Given the description of an element on the screen output the (x, y) to click on. 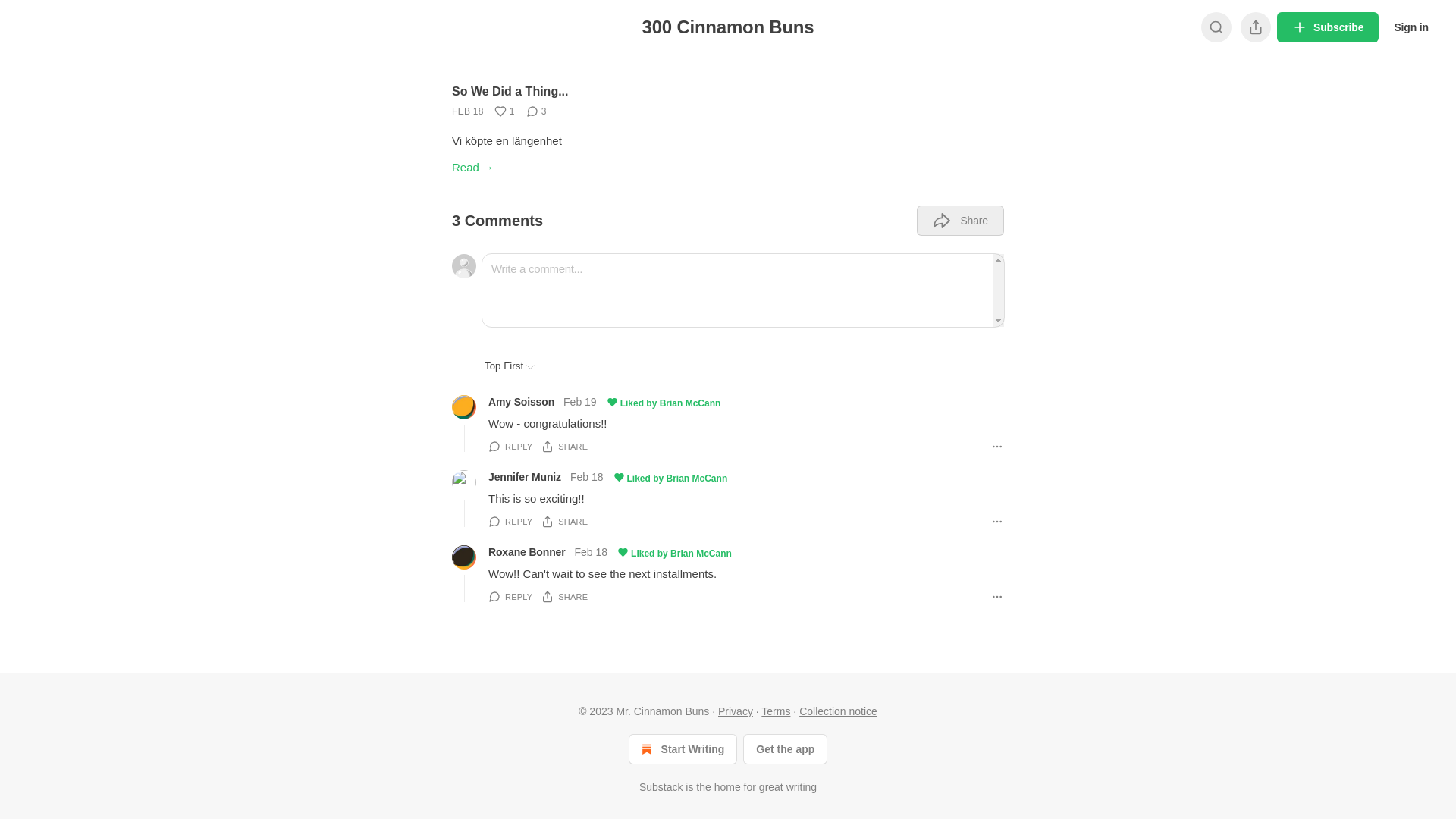
3 Element type: text (536, 111)
Top First Element type: text (509, 365)
SHARE Element type: text (564, 596)
Sign in Element type: text (1410, 27)
1 Element type: text (504, 111)
Collection notice Element type: text (838, 711)
Share Element type: text (960, 220)
Terms Element type: text (775, 711)
REPLY Element type: text (510, 521)
REPLY Element type: text (510, 596)
SHARE Element type: text (564, 446)
Substack Element type: text (661, 787)
300 Cinnamon Buns Element type: text (728, 26)
Feb 18 Element type: text (586, 477)
Amy Soisson Element type: text (521, 401)
SHARE Element type: text (564, 521)
Jennifer Muniz Element type: text (524, 476)
Feb 18 Element type: text (591, 552)
Start Writing Element type: text (682, 749)
Roxane Bonner Element type: text (526, 551)
REPLY Element type: text (510, 446)
Feb 19 Element type: text (579, 402)
Subscribe Element type: text (1327, 27)
Get the app Element type: text (785, 749)
Privacy Element type: text (735, 711)
So We Did a Thing... Element type: text (509, 90)
